Given the description of an element on the screen output the (x, y) to click on. 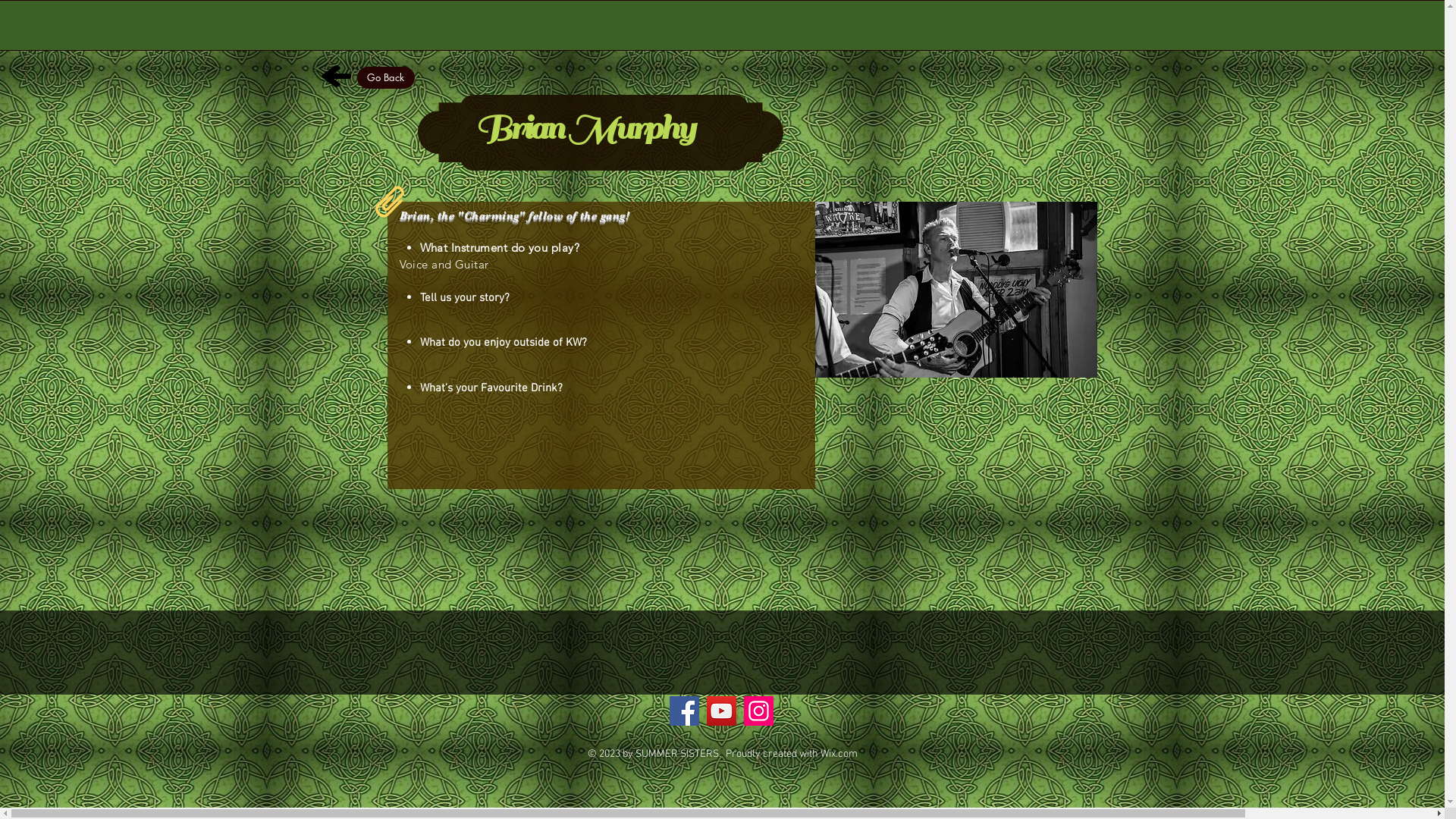
Go Back Element type: text (385, 77)
Wix.com Element type: text (838, 753)
